Given the description of an element on the screen output the (x, y) to click on. 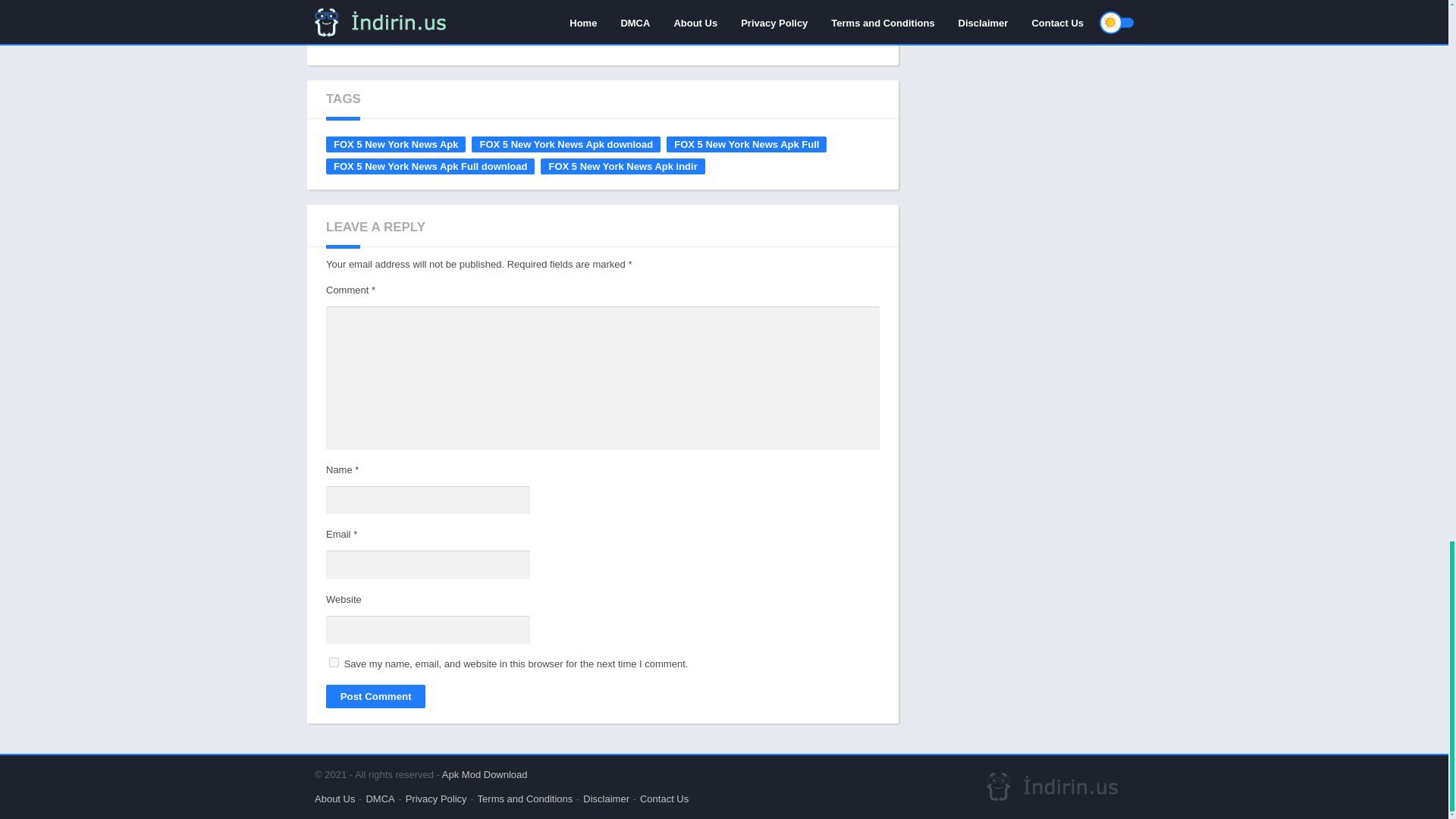
PIX 11 News Apk Download (715, 27)
PIX 11 News Apk Download (715, 27)
FOX 5 New York News Apk Full (746, 144)
FOX 5 New York News Apk download (566, 144)
yes (334, 662)
FOX 5 New York News Apk (395, 144)
Local Now Watch Local News, Weather, Movies TV Apk Download (375, 27)
16 WAPT News The One To Watch Apk Download (829, 27)
